Given the description of an element on the screen output the (x, y) to click on. 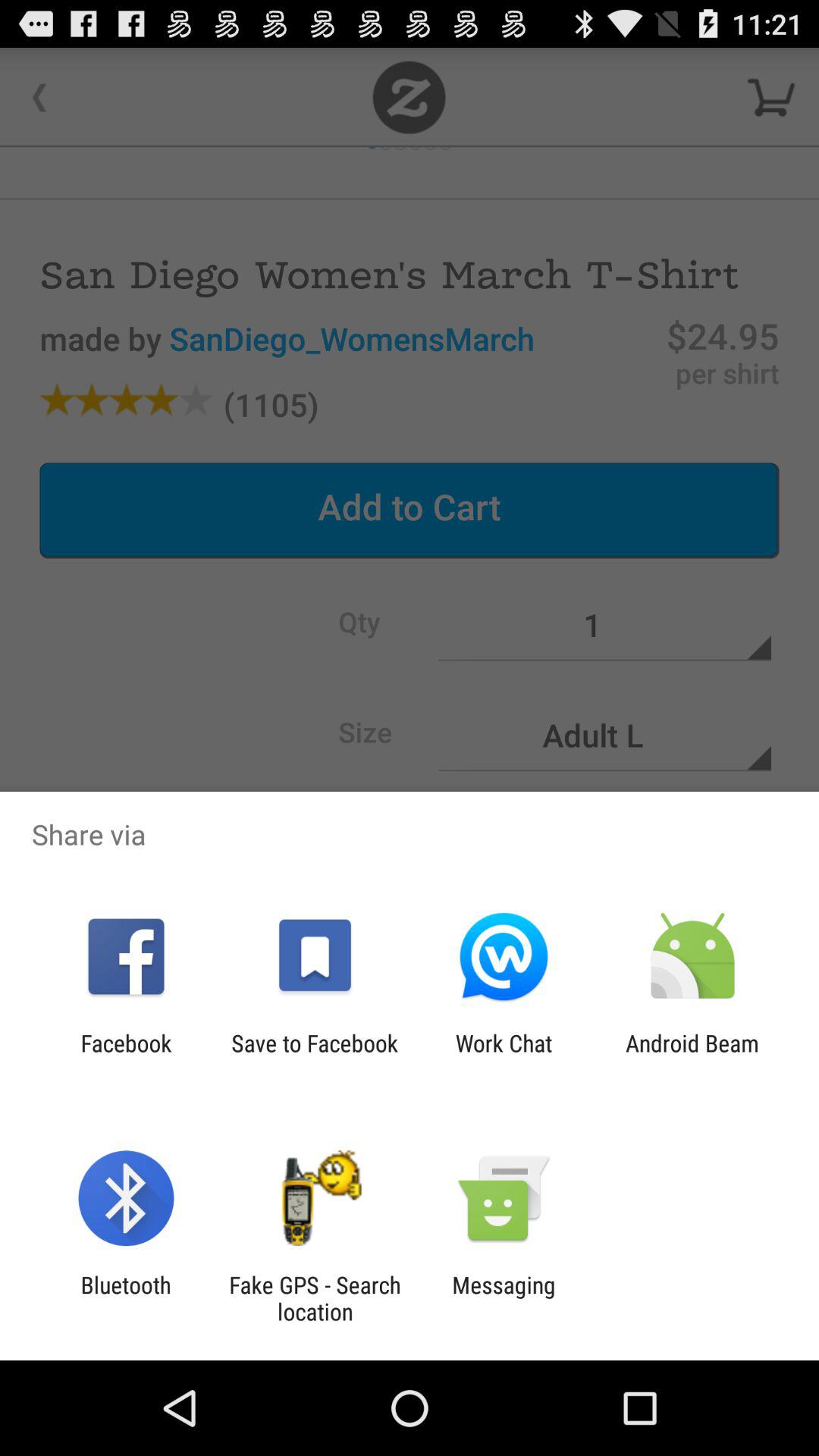
swipe to fake gps search item (314, 1298)
